Given the description of an element on the screen output the (x, y) to click on. 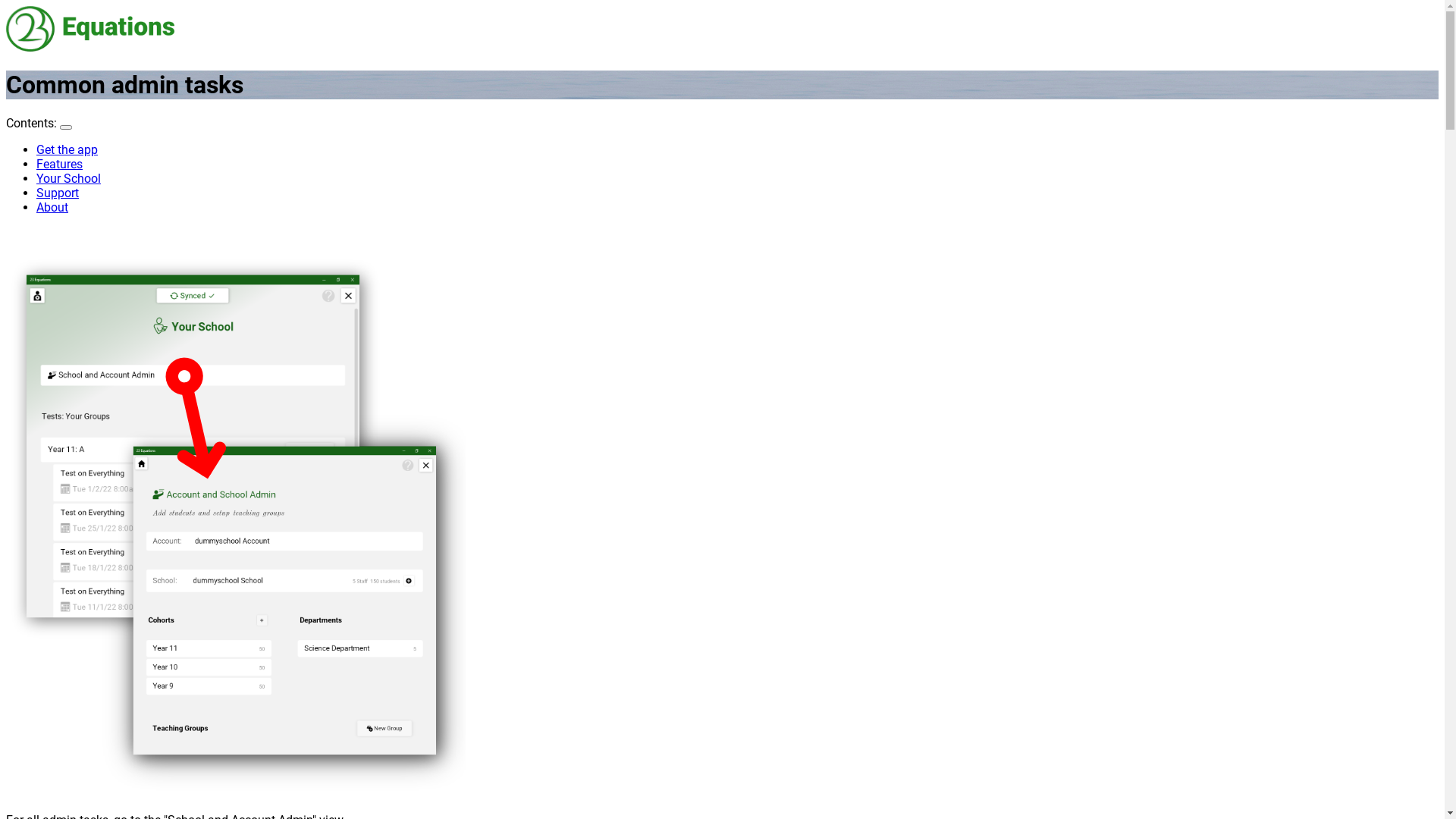
Your School Element type: text (68, 178)
Support Element type: text (57, 192)
Features Element type: text (59, 163)
About Element type: text (52, 207)
Get the app Element type: text (66, 149)
